Given the description of an element on the screen output the (x, y) to click on. 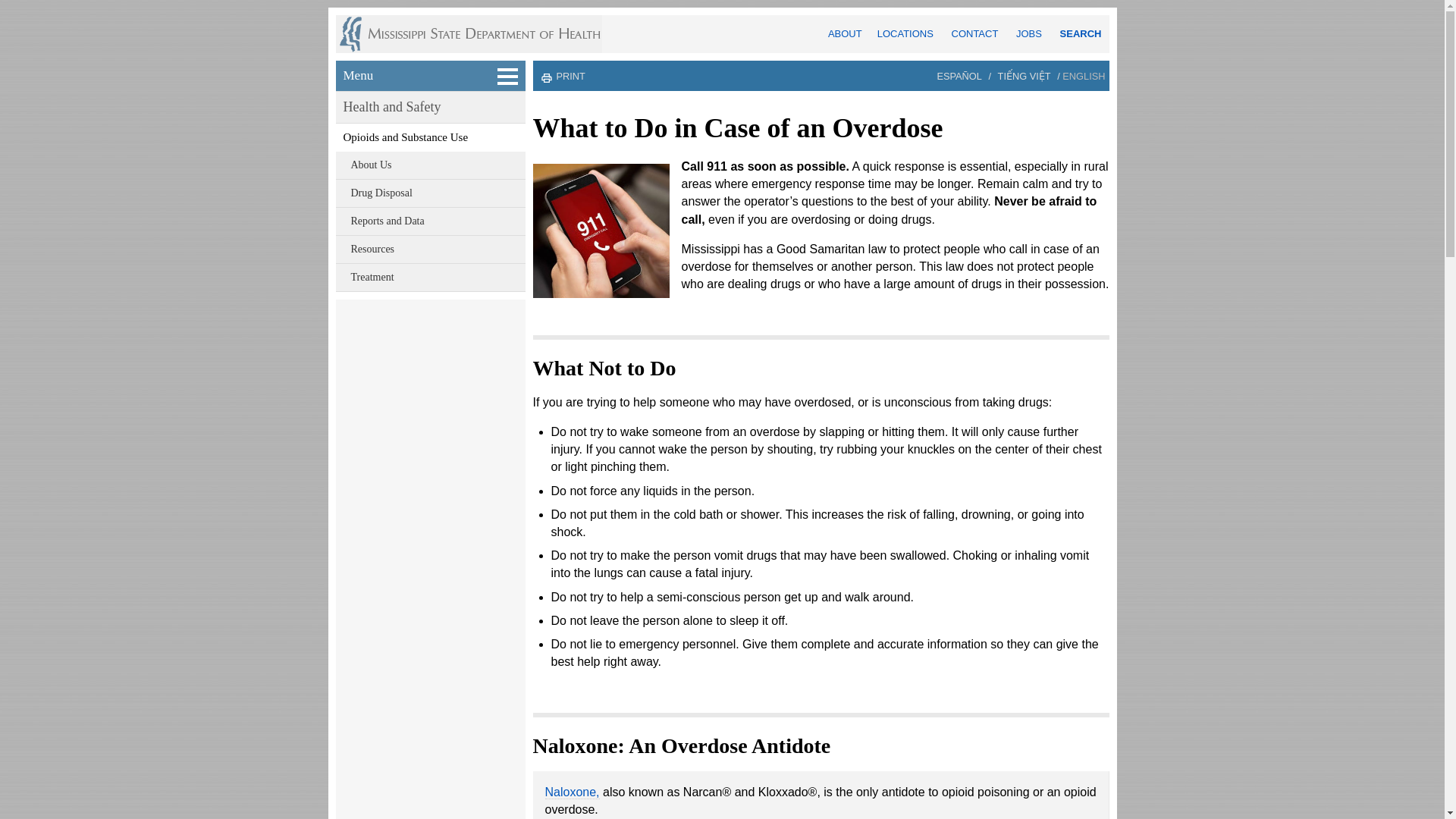
About Us (431, 165)
Reports and Data (431, 221)
Health and Safety (431, 106)
Treatment (431, 277)
JOBS (1029, 33)
Naloxone, (571, 792)
PRINT (569, 75)
General information, locations and contact (845, 33)
Health and Safety (431, 106)
Resources (431, 248)
Opioids and Substance Use (431, 137)
Drug Disposal (431, 193)
Menu (431, 75)
ABOUT (845, 33)
